Given the description of an element on the screen output the (x, y) to click on. 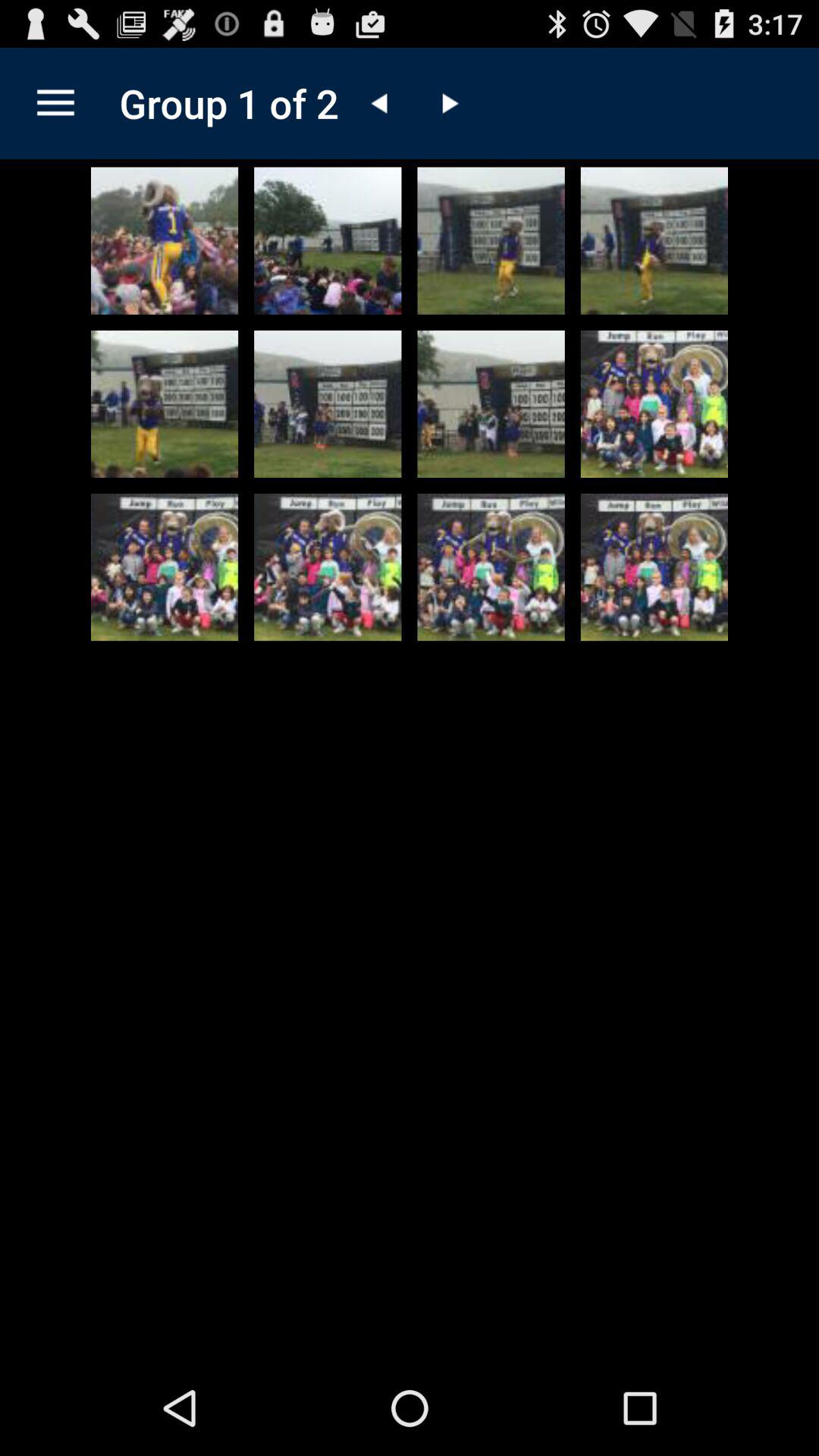
select photo (327, 403)
